Given the description of an element on the screen output the (x, y) to click on. 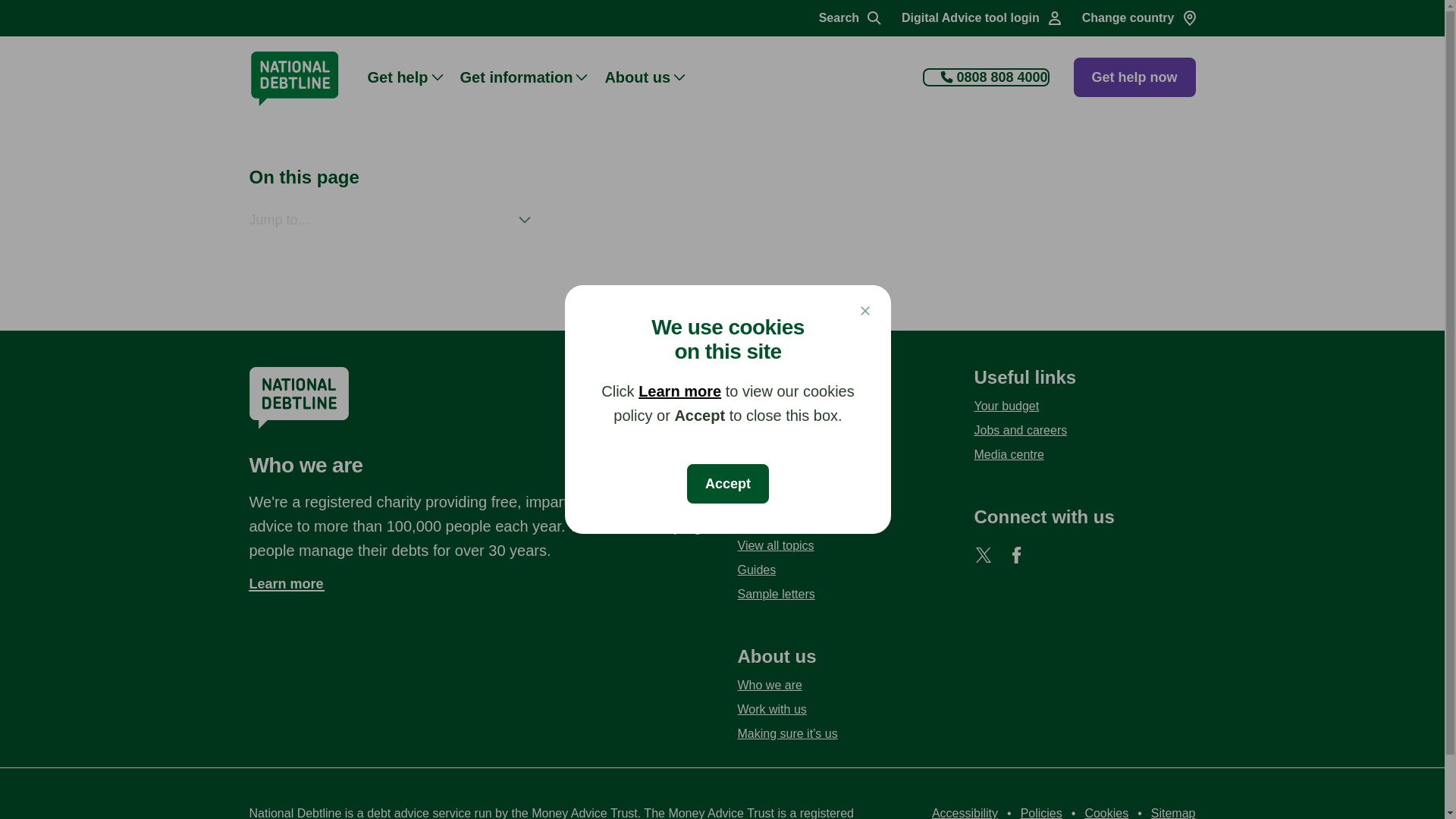
About us (652, 76)
Learn more (679, 391)
0808 808 4000 (985, 76)
Get help (413, 76)
Change country (1139, 17)
Accept (727, 483)
Search (850, 17)
Get help now (1134, 77)
Get information (532, 76)
Digital Advice tool login (982, 17)
